Given the description of an element on the screen output the (x, y) to click on. 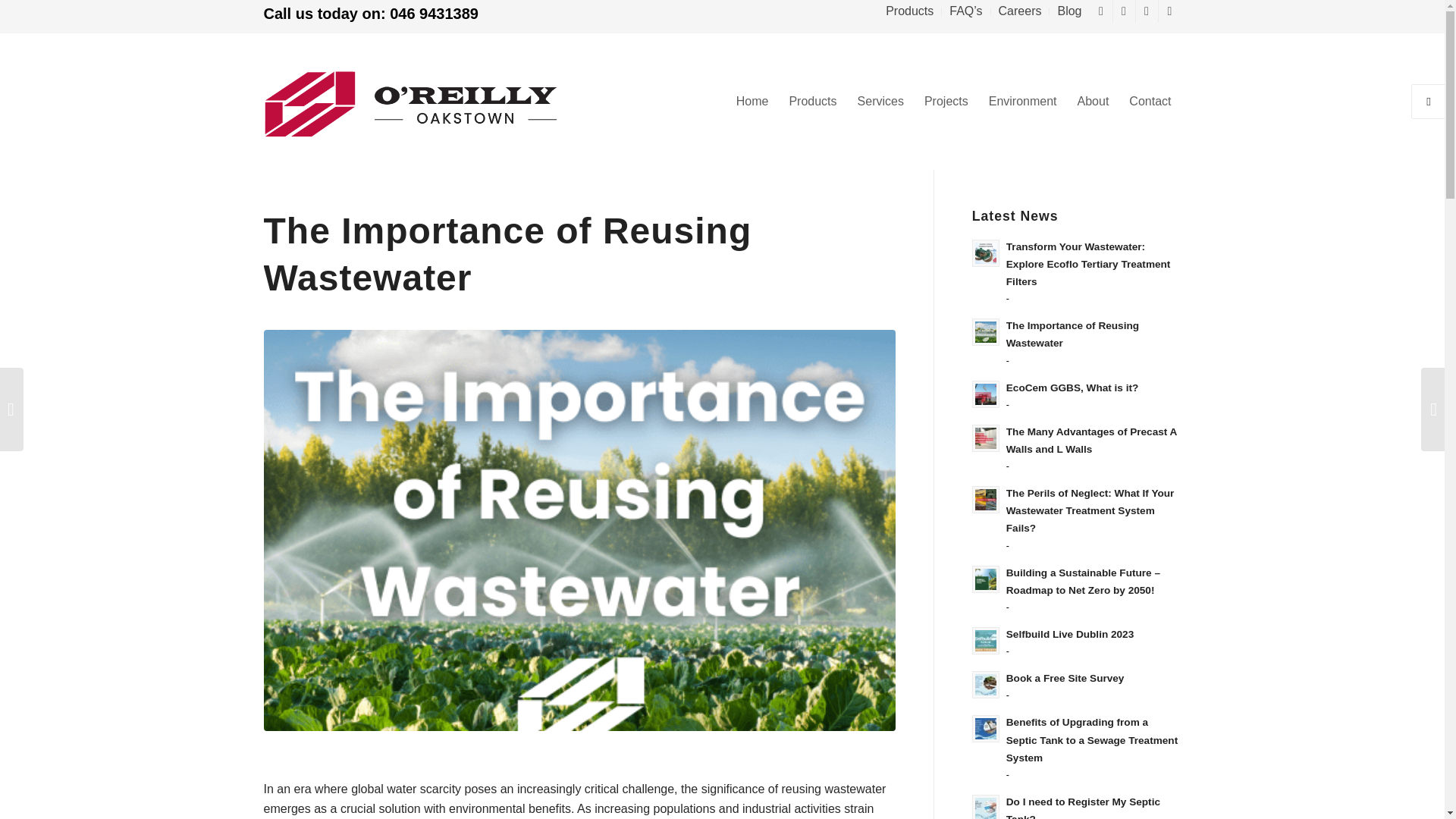
Vimeo (1169, 11)
Read: The Importance of Reusing Wastewater (985, 331)
Read: EcoCem GGBS, What is it? (985, 393)
Call us today on: 046 9431389 (371, 13)
oreilly-oakstown-logo (444, 103)
Read: The Importance of Reusing Wastewater (1072, 334)
Youtube (1124, 11)
Blog (1069, 11)
